Given the description of an element on the screen output the (x, y) to click on. 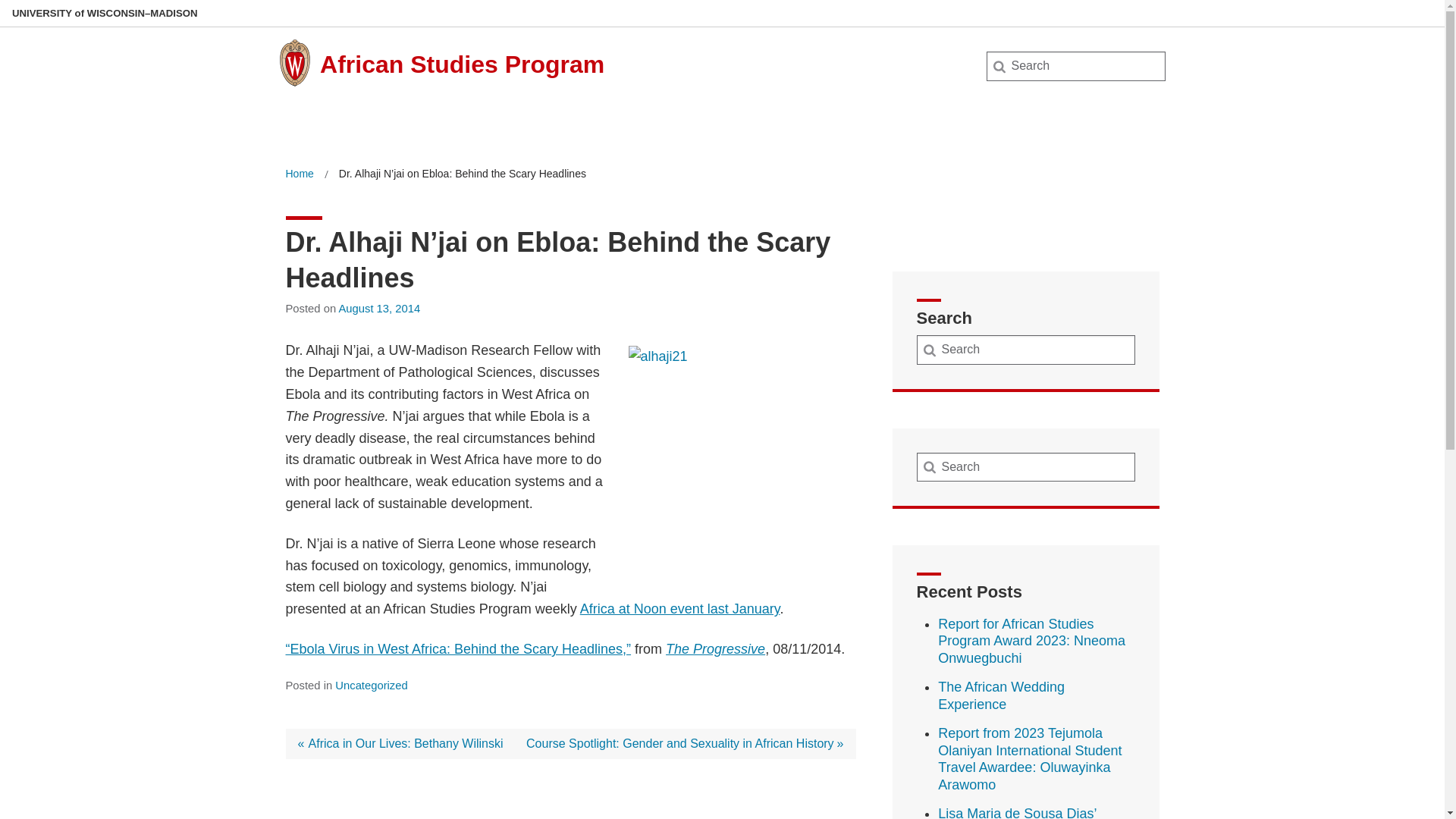
Africa at Noon - January 29, 2014 (679, 608)
The Progressive (715, 648)
Home (299, 173)
African Studies Program (462, 63)
Search (37, 16)
Skip to main content (3, 3)
